Given the description of an element on the screen output the (x, y) to click on. 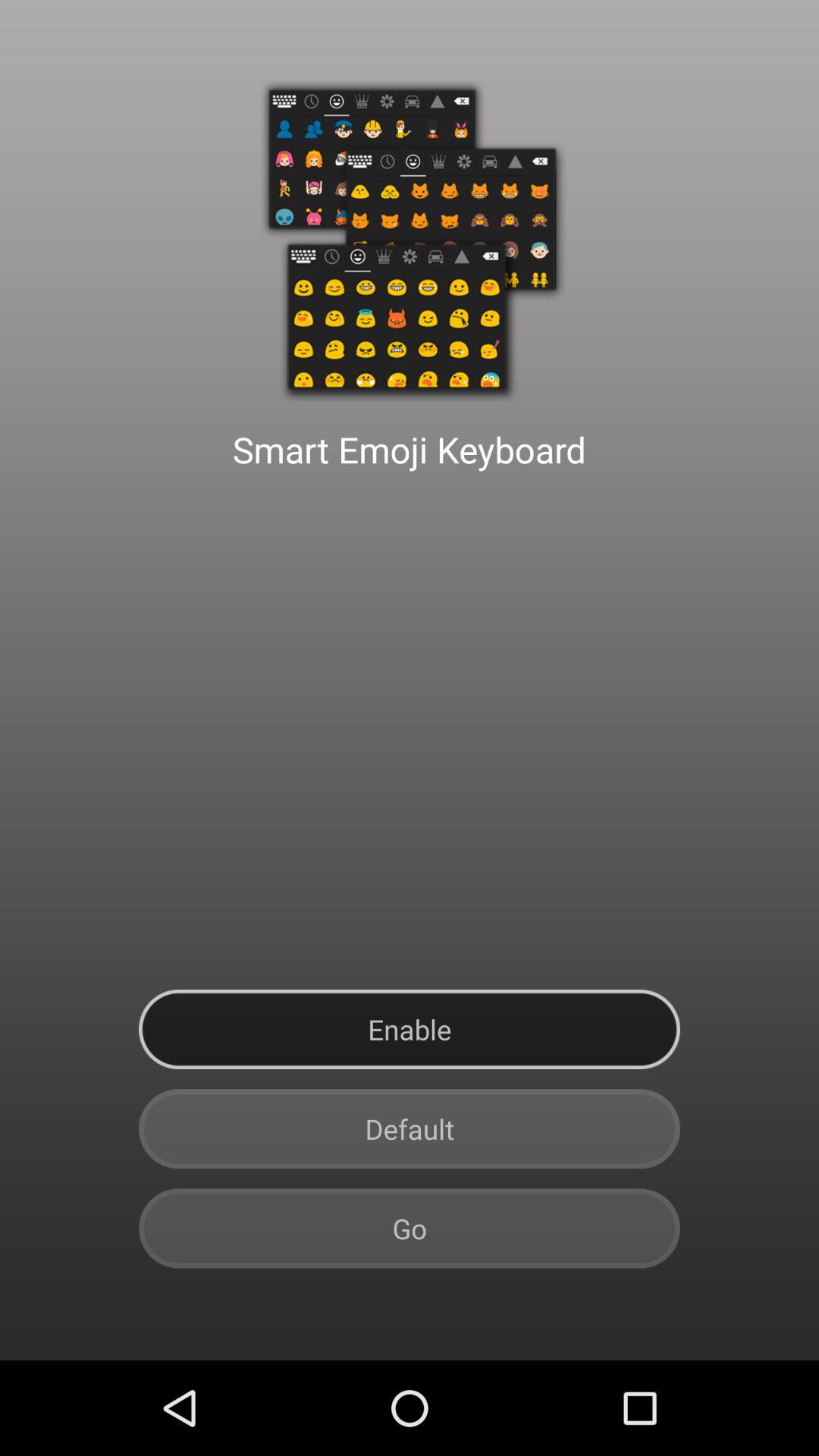
click the app below smart emoji keyboard icon (409, 1029)
